Given the description of an element on the screen output the (x, y) to click on. 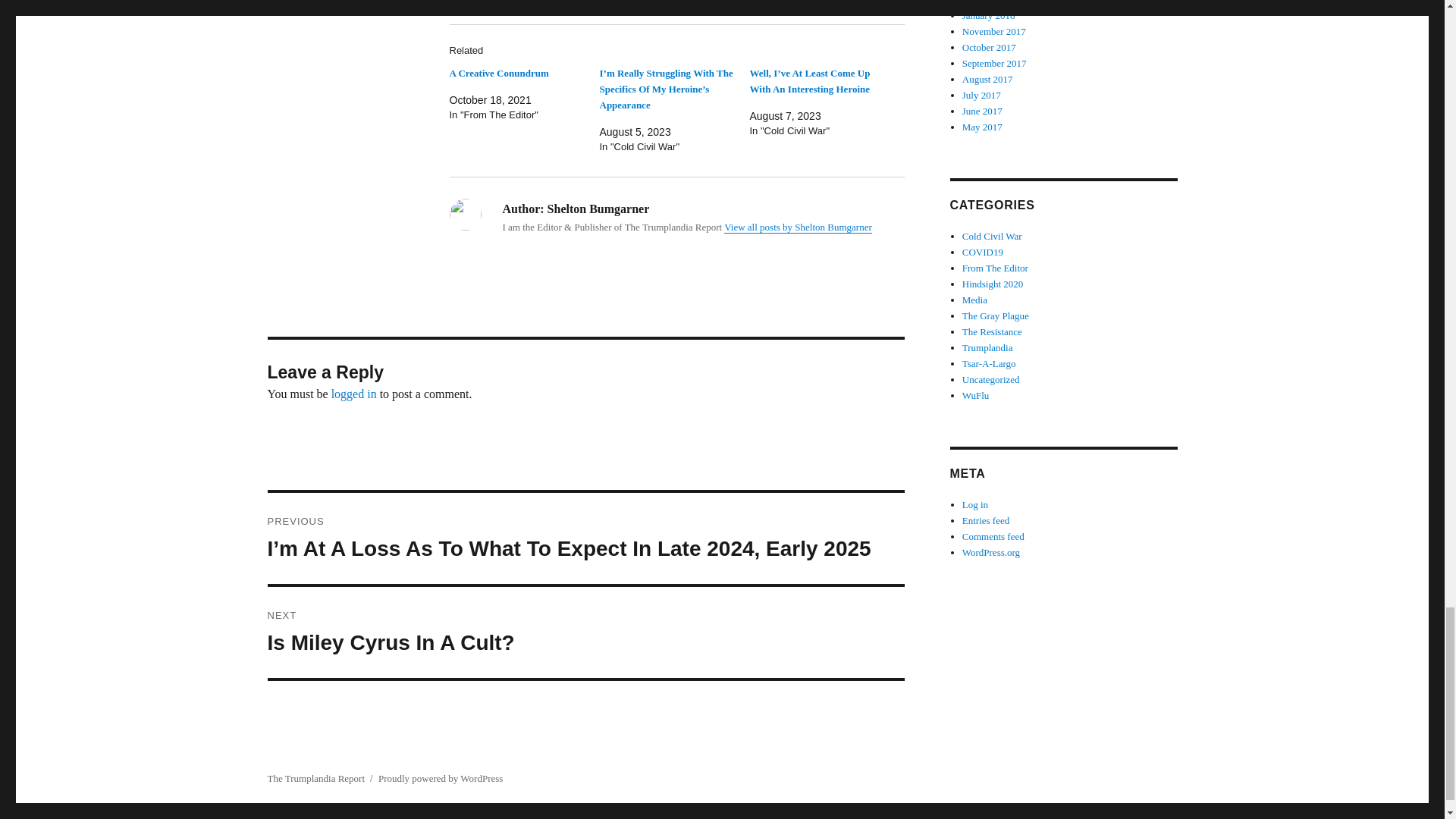
logged in (354, 393)
A Creative Conundrum (498, 72)
A Creative Conundrum (498, 72)
View all posts by Shelton Bumgarner (797, 226)
